Given the description of an element on the screen output the (x, y) to click on. 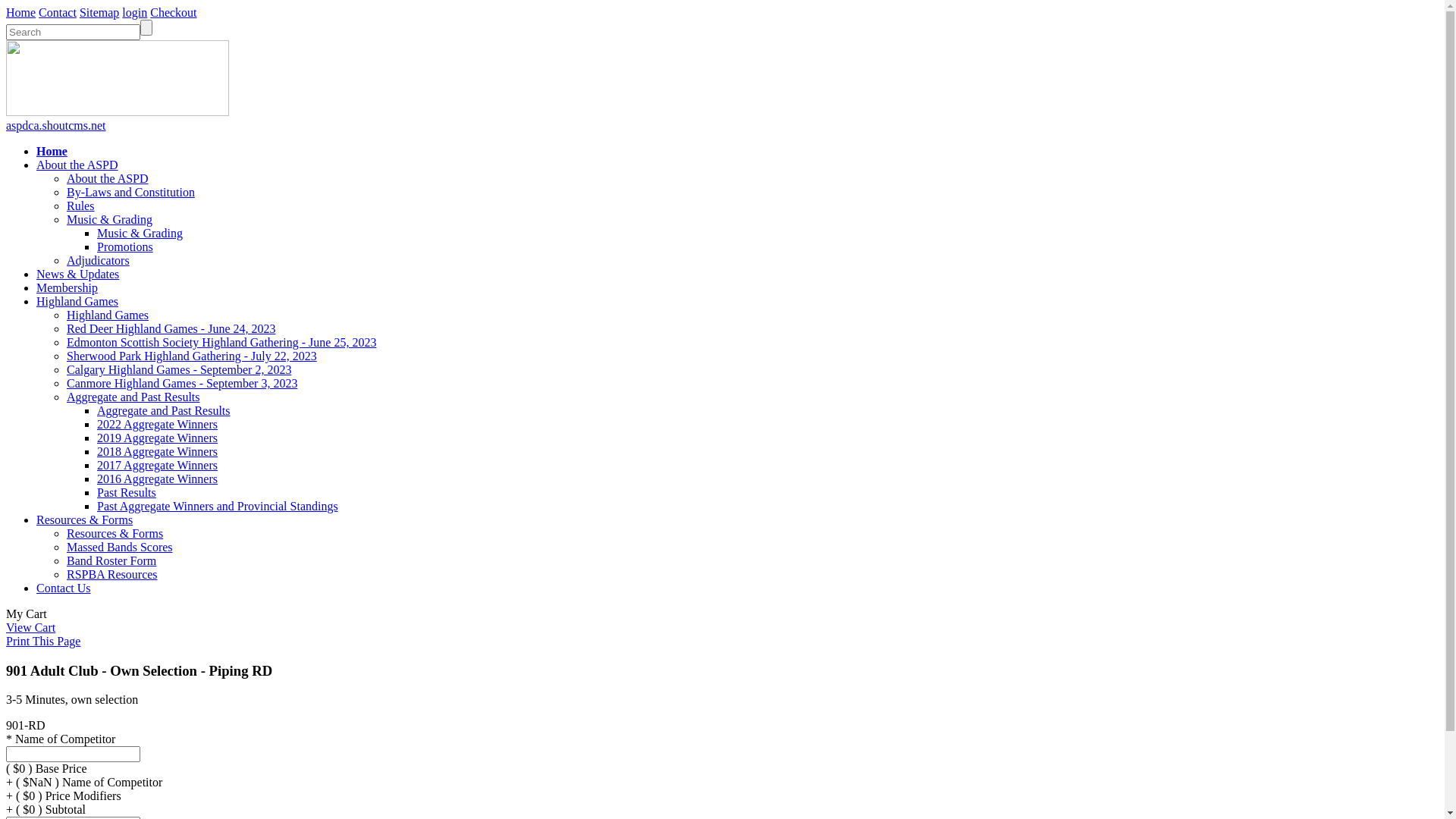
Past Aggregate Winners and Provincial Standings Element type: text (217, 505)
Resources & Forms Element type: text (114, 533)
2019 Aggregate Winners Element type: text (157, 437)
View Cart Element type: text (30, 627)
Rules Element type: text (80, 205)
Sherwood Park Highland Gathering - July 22, 2023 Element type: text (191, 355)
Past Results Element type: text (126, 492)
2022 Aggregate Winners Element type: text (157, 423)
Sitemap Element type: text (99, 12)
Adjudicators Element type: text (97, 260)
Aggregate and Past Results Element type: text (163, 410)
By-Laws and Constitution Element type: text (130, 191)
Music & Grading Element type: text (139, 232)
About the ASPD Element type: text (107, 178)
Calgary Highland Games - September 2, 2023 Element type: text (178, 369)
Print This Page Element type: text (43, 640)
Home Element type: text (51, 150)
Home Element type: text (20, 12)
About the ASPD Element type: text (77, 164)
Resources & Forms Element type: text (84, 519)
2018 Aggregate Winners Element type: text (157, 451)
Checkout Element type: text (173, 12)
Membership Element type: text (66, 287)
Music & Grading Element type: text (109, 219)
Promotions Element type: text (125, 246)
Contact Us Element type: text (63, 587)
Highland Games Element type: text (77, 300)
aspdca.shoutcms.net Element type: text (56, 125)
Band Roster Form Element type: text (111, 560)
RSPBA Resources Element type: text (111, 573)
Aggregate and Past Results Element type: text (133, 396)
Edmonton Scottish Society Highland Gathering - June 25, 2023 Element type: text (221, 341)
Red Deer Highland Games - June 24, 2023 Element type: text (171, 328)
News & Updates Element type: text (77, 273)
2016 Aggregate Winners Element type: text (157, 478)
Canmore Highland Games - September 3, 2023 Element type: text (181, 382)
login Element type: text (134, 12)
Highland Games Element type: text (107, 314)
Massed Bands Scores Element type: text (119, 546)
Contact Element type: text (57, 12)
2017 Aggregate Winners Element type: text (157, 464)
